Given the description of an element on the screen output the (x, y) to click on. 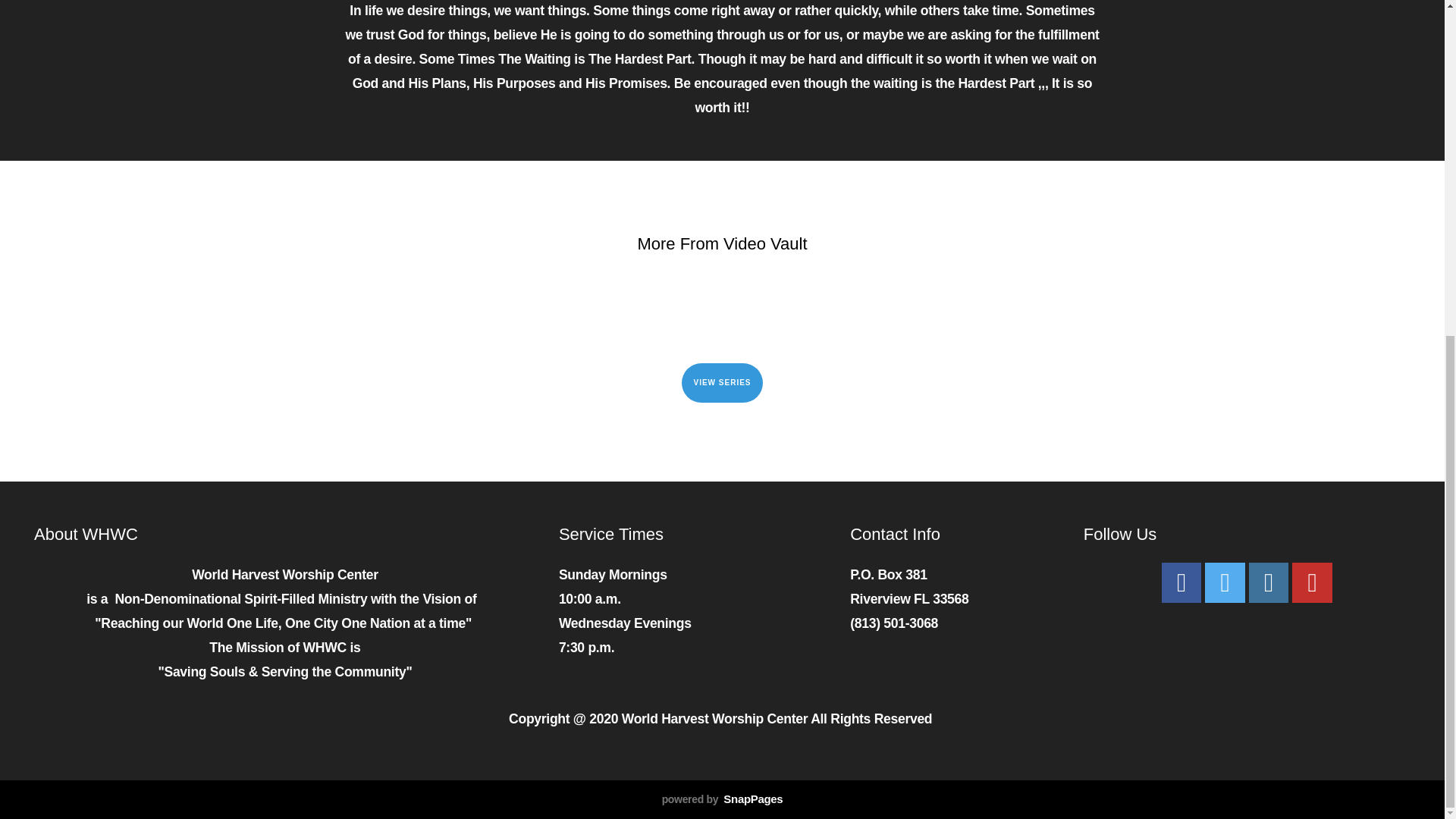
powered by SnapPages Website Builder (722, 799)
